Given the description of an element on the screen output the (x, y) to click on. 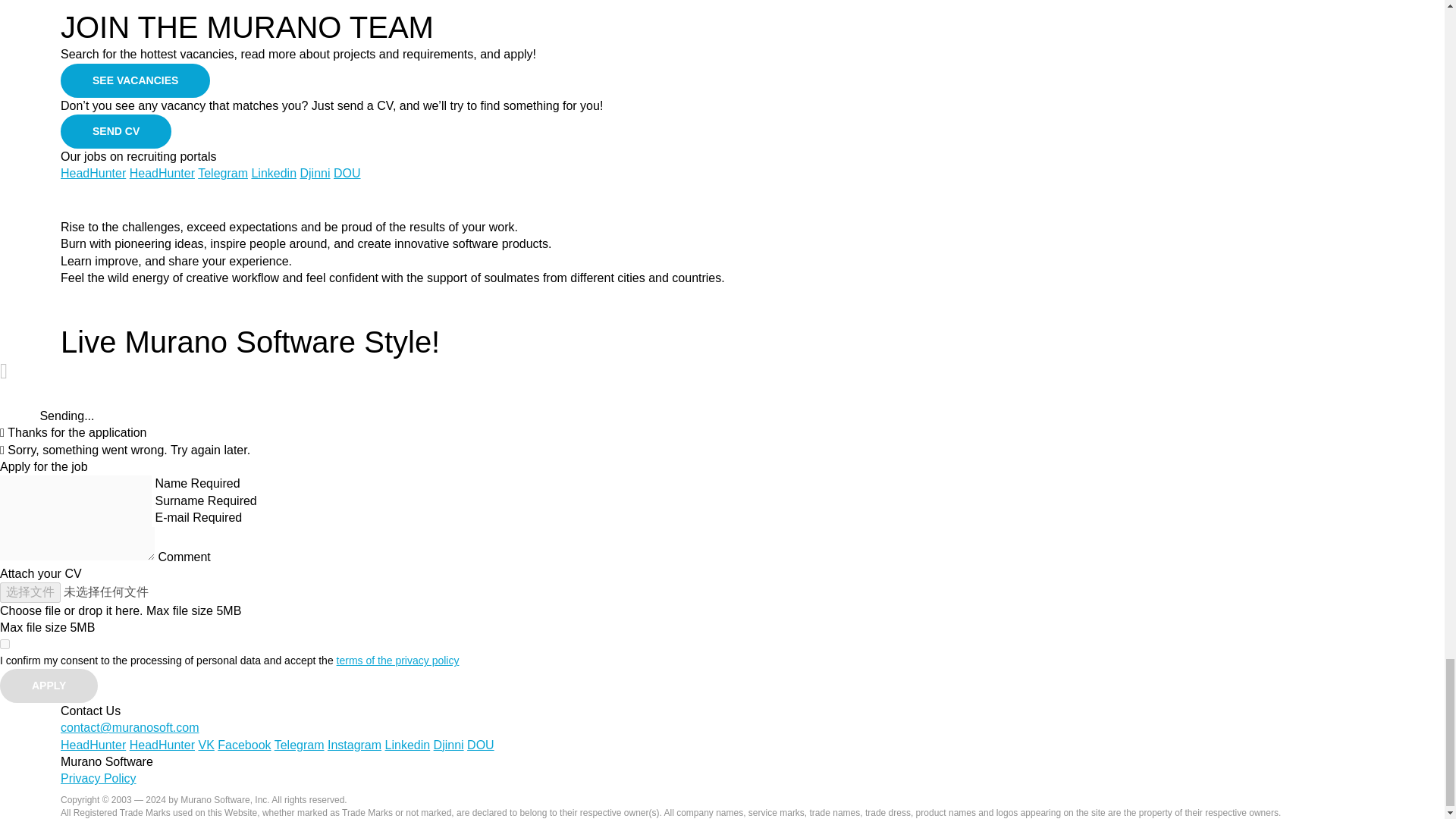
Djinni (314, 173)
DOU (347, 173)
HeadHunter (162, 173)
HeadHunter (93, 173)
Linkedin (273, 173)
APPLY (48, 685)
SEE VACANCIES (135, 80)
Telegram (222, 173)
VK (206, 744)
HeadHunter (162, 744)
HeadHunter (93, 744)
check (5, 644)
terms of the privacy policy (398, 660)
Facebook (243, 744)
SEND CV (116, 131)
